Given the description of an element on the screen output the (x, y) to click on. 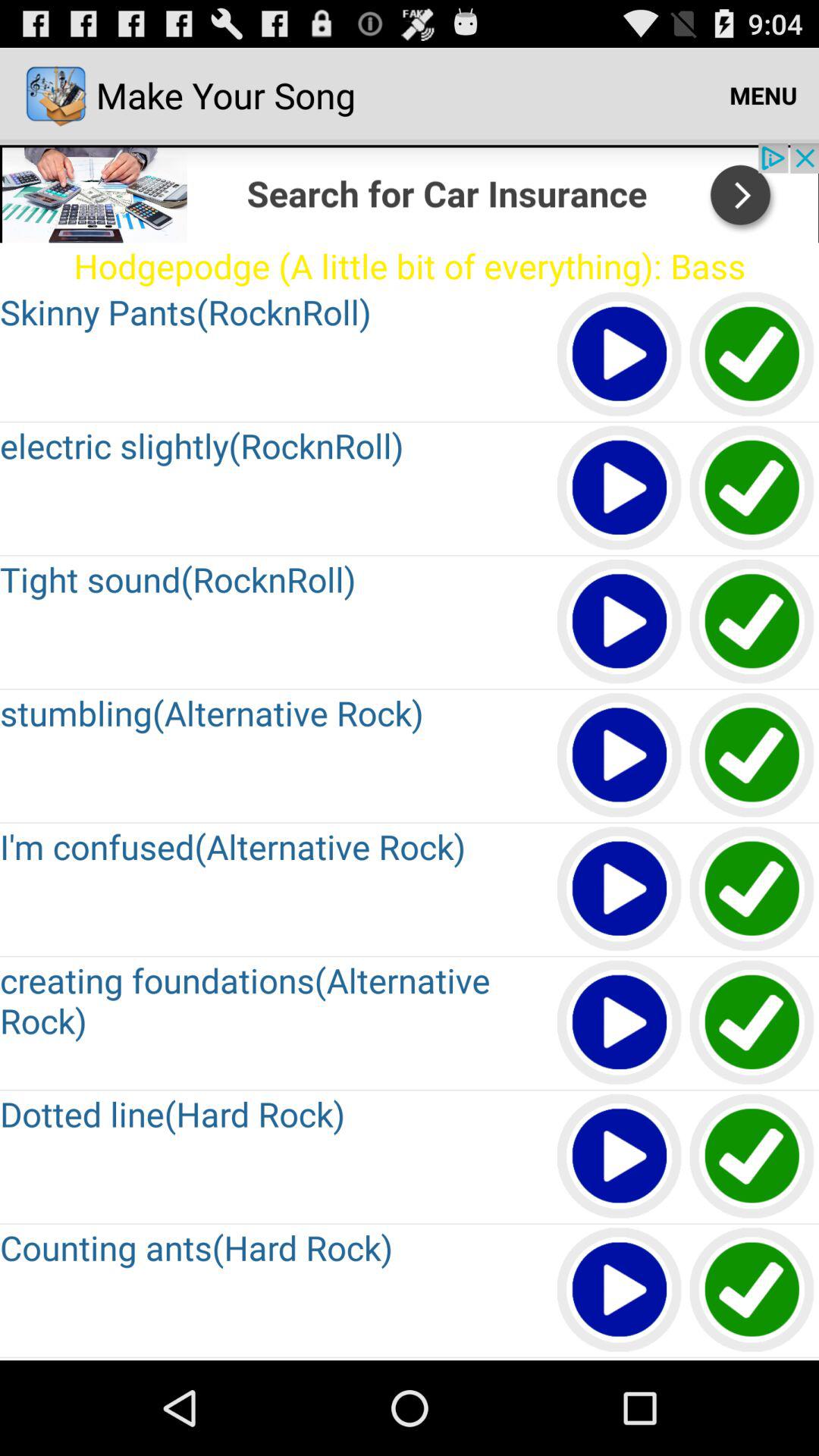
play something (619, 1023)
